Given the description of an element on the screen output the (x, y) to click on. 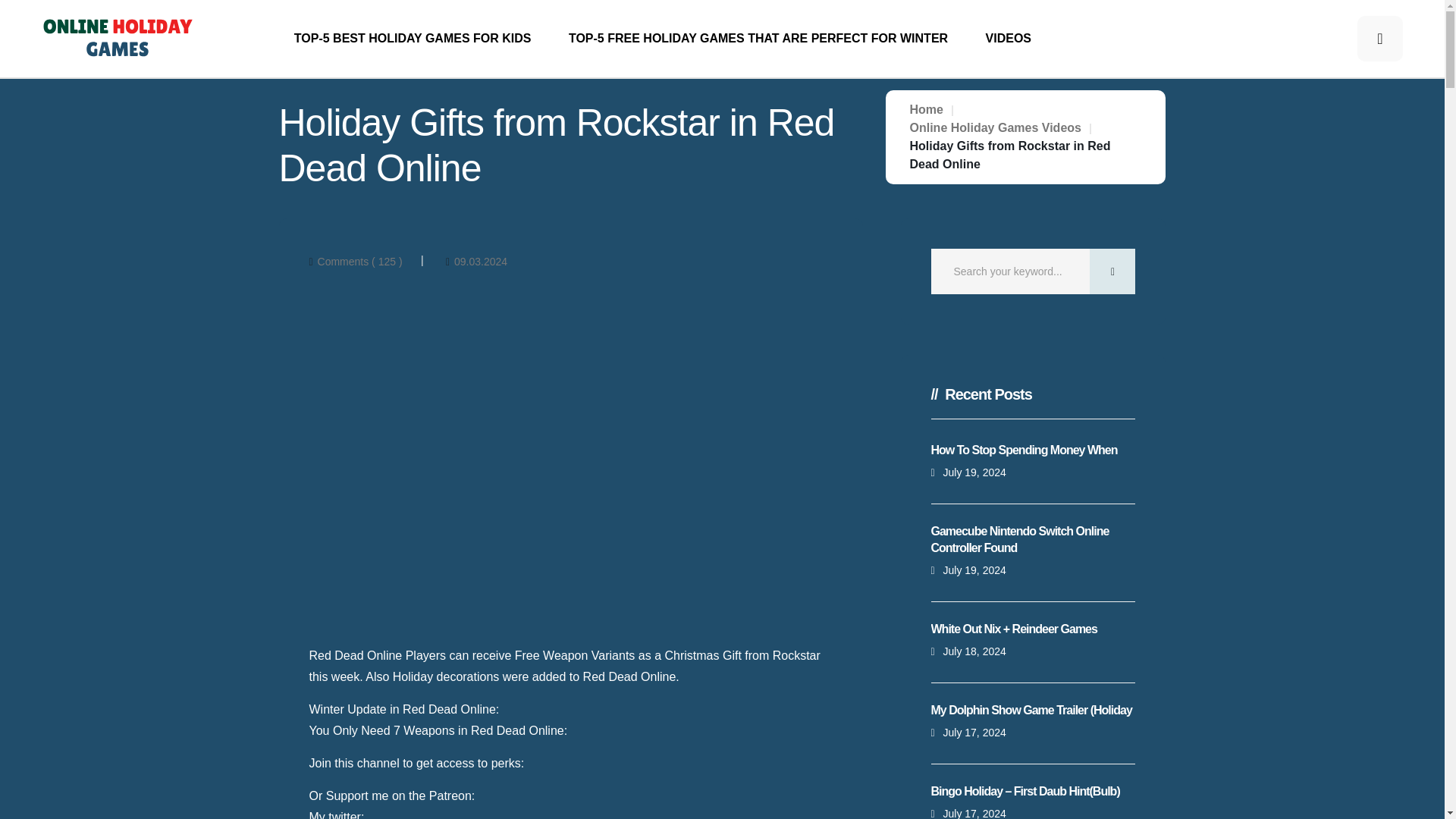
VIDEOS (1007, 38)
Online Holiday Games Videos (995, 127)
TOP-5 BEST HOLIDAY GAMES FOR KIDS (412, 38)
TOP-5 FREE HOLIDAY GAMES THAT ARE PERFECT FOR WINTER (758, 38)
Top-5 Best Holiday Games for Kids (412, 38)
Home (926, 109)
Videos (1007, 38)
Top-5 Free Holiday Games That Are Perfect for Winter (758, 38)
